Given the description of an element on the screen output the (x, y) to click on. 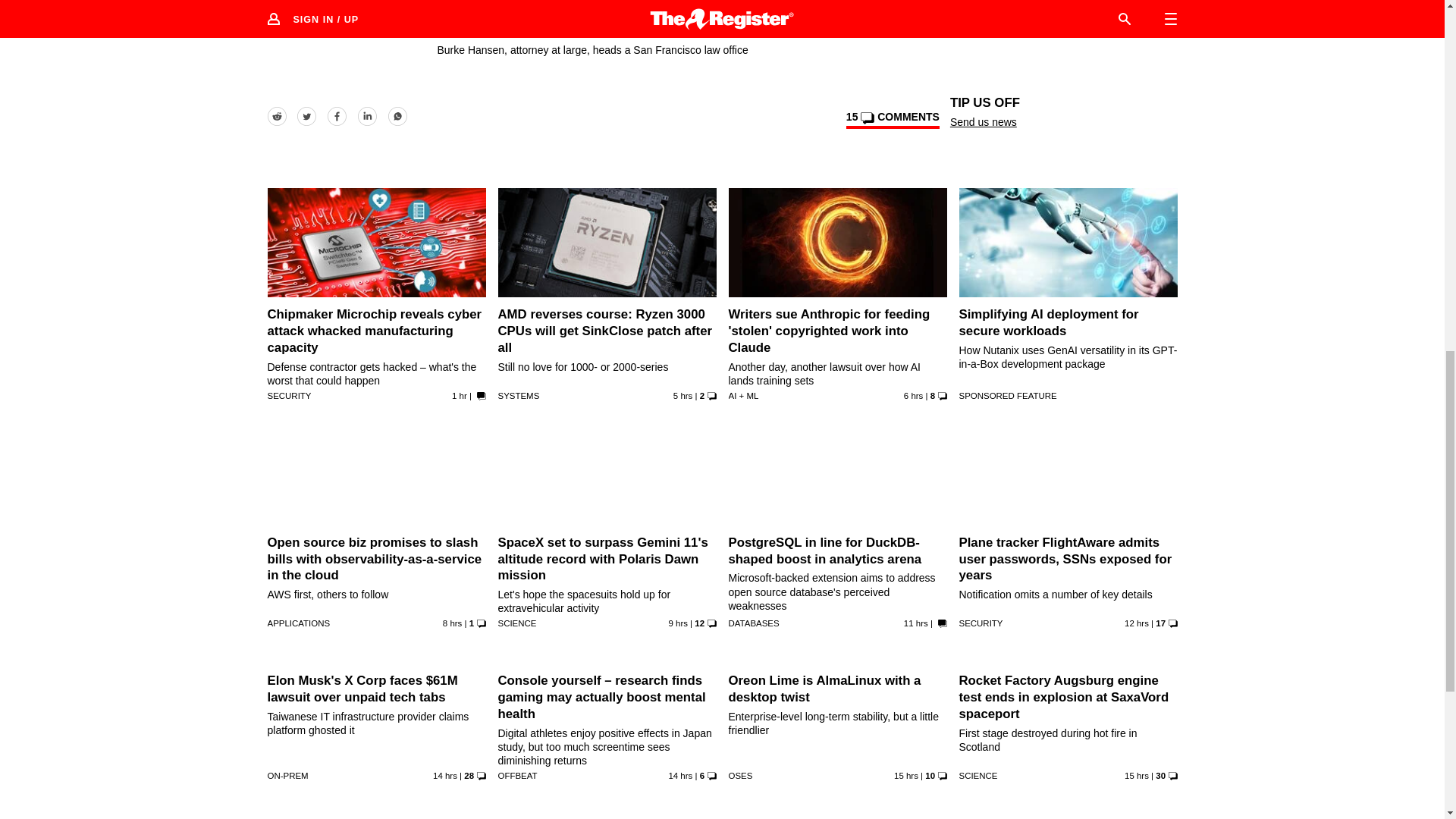
20 Aug 2024 17:29 (677, 623)
21 Aug 2024 1:15 (459, 395)
View comments on this article (892, 119)
20 Aug 2024 12:30 (680, 775)
20 Aug 2024 16:0 (916, 623)
20 Aug 2024 14:30 (1136, 623)
20 Aug 2024 19:0 (452, 623)
20 Aug 2024 21:27 (682, 395)
20 Aug 2024 20:15 (913, 395)
20 Aug 2024 13:2 (444, 775)
